Given the description of an element on the screen output the (x, y) to click on. 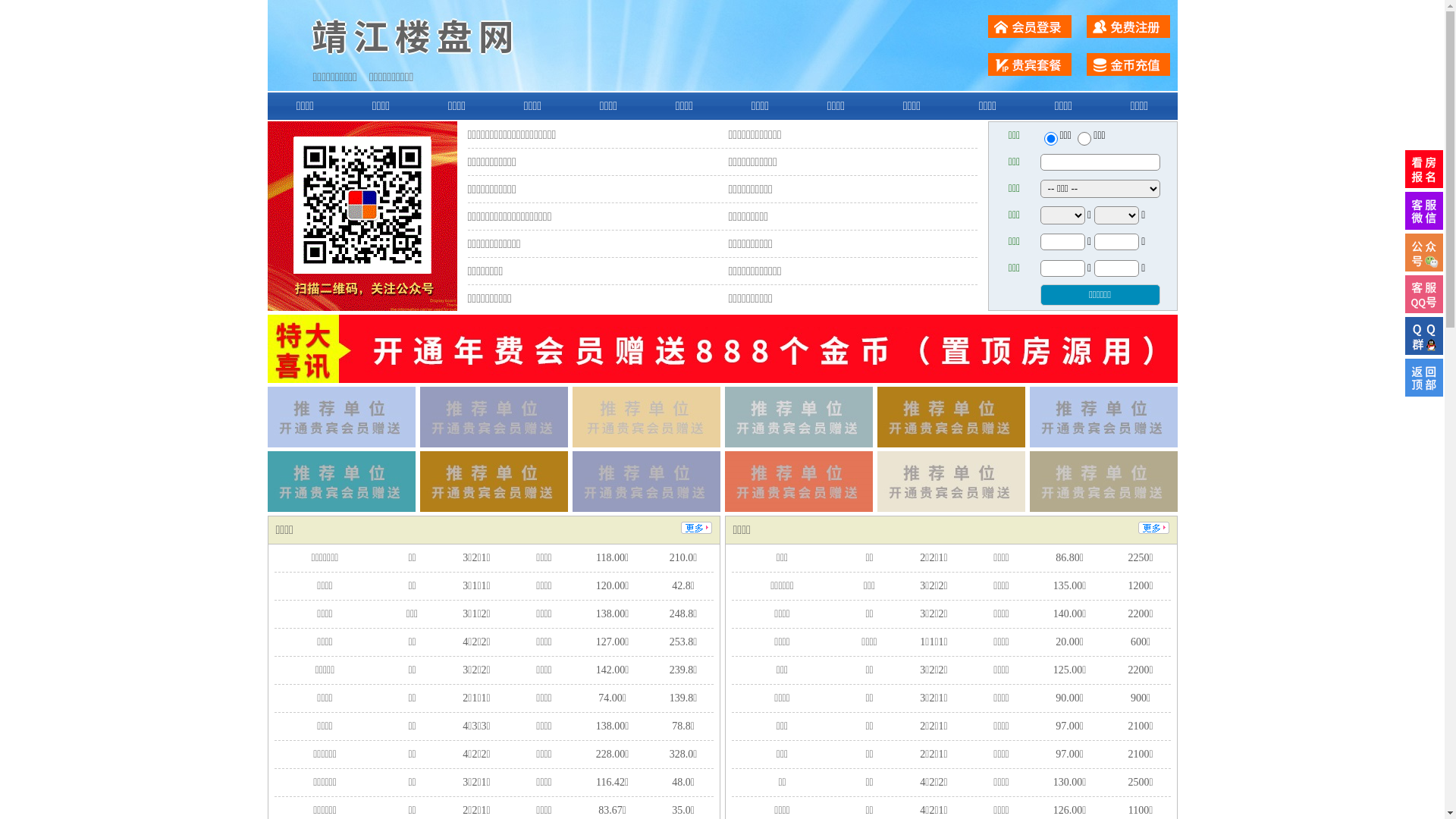
ershou Element type: text (1050, 138)
chuzu Element type: text (1084, 138)
